Given the description of an element on the screen output the (x, y) to click on. 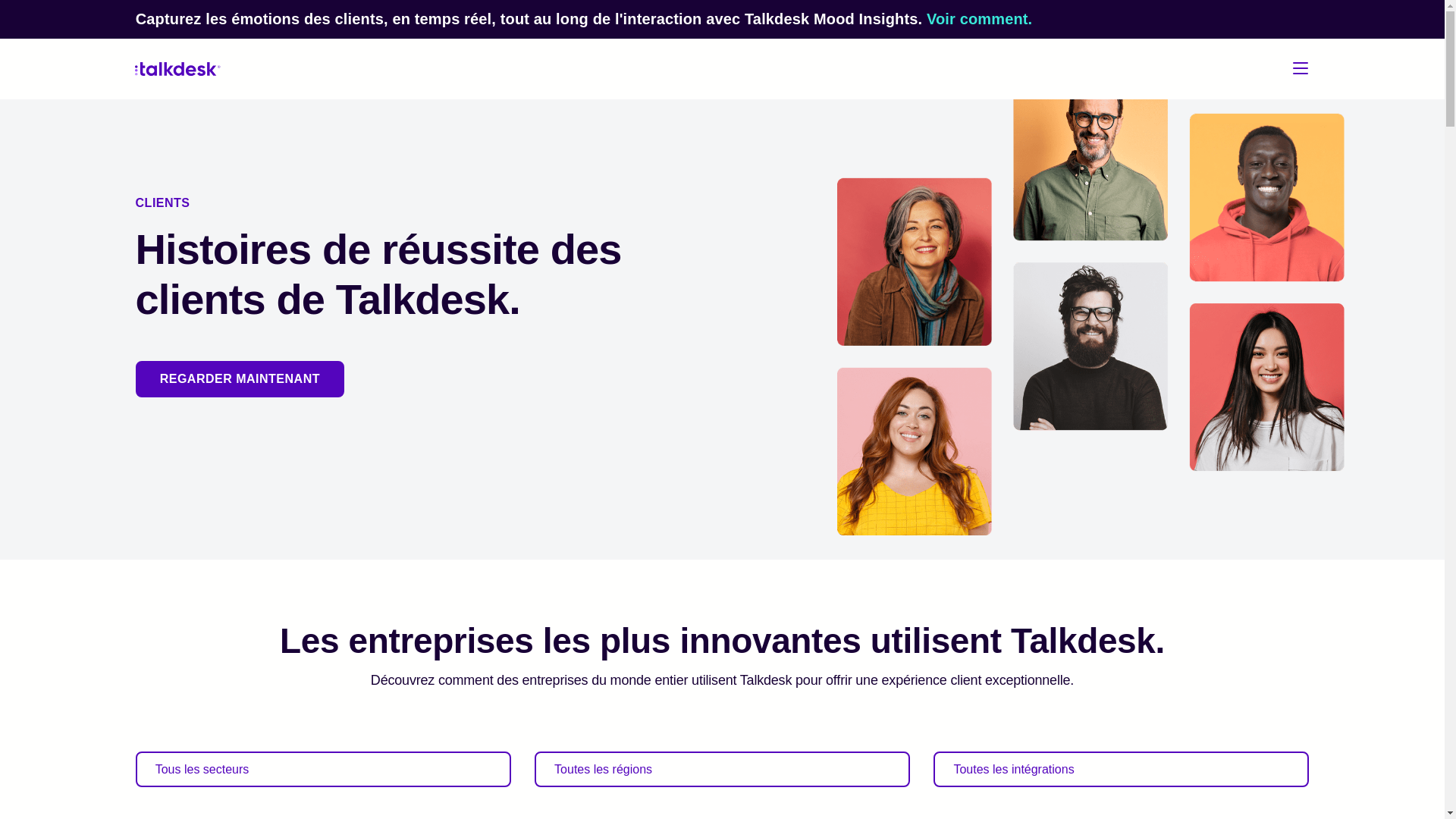
REGARDER MAINTENANT (239, 379)
